Given the description of an element on the screen output the (x, y) to click on. 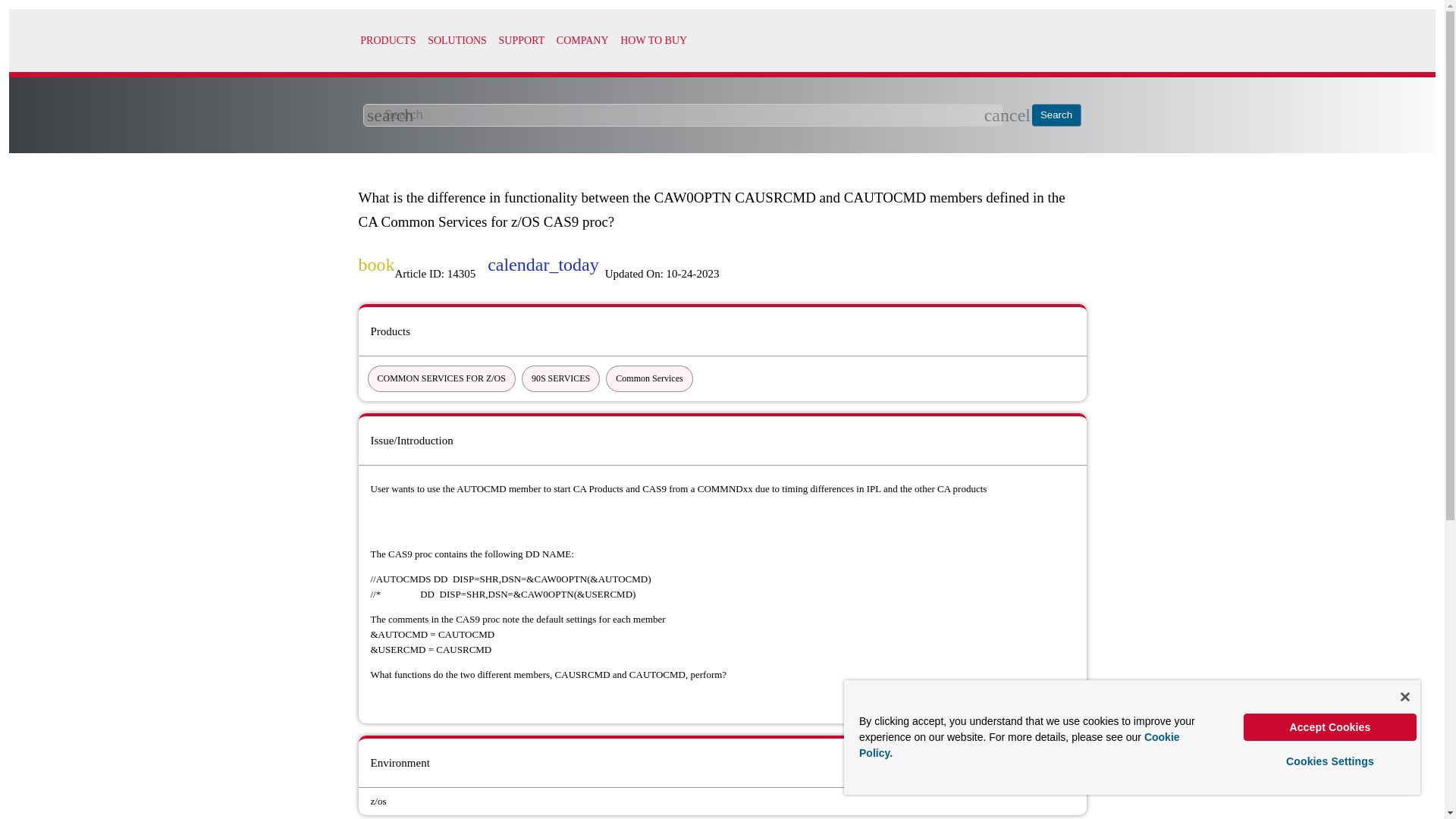
Cookies Settings (1329, 760)
Accept Cookies (1329, 727)
Cookie Policy. (1019, 745)
Search (1056, 115)
